Given the description of an element on the screen output the (x, y) to click on. 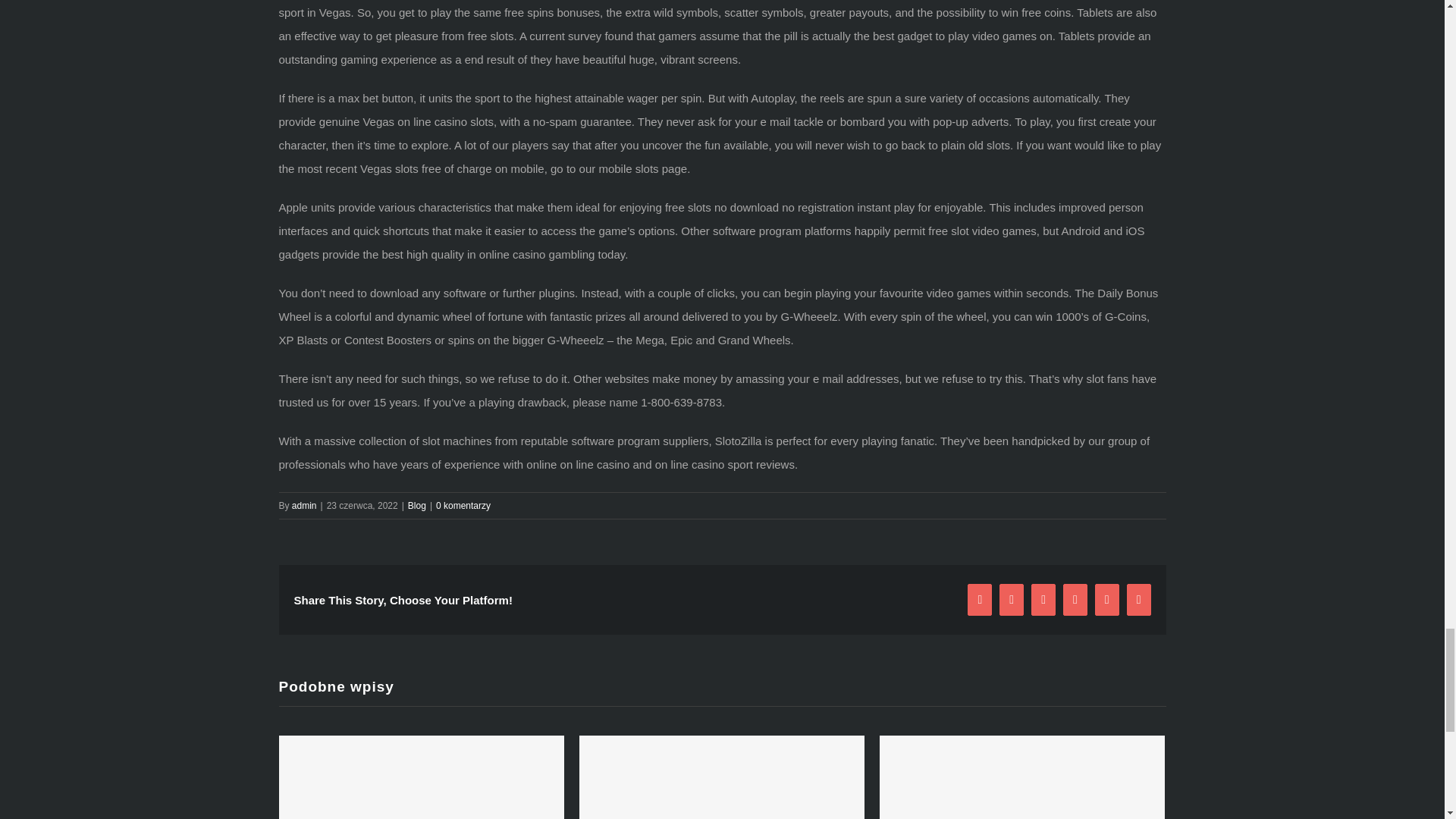
Wpisy od admin (304, 505)
0 komentarzy (462, 505)
Blog (416, 505)
admin (304, 505)
